Given the description of an element on the screen output the (x, y) to click on. 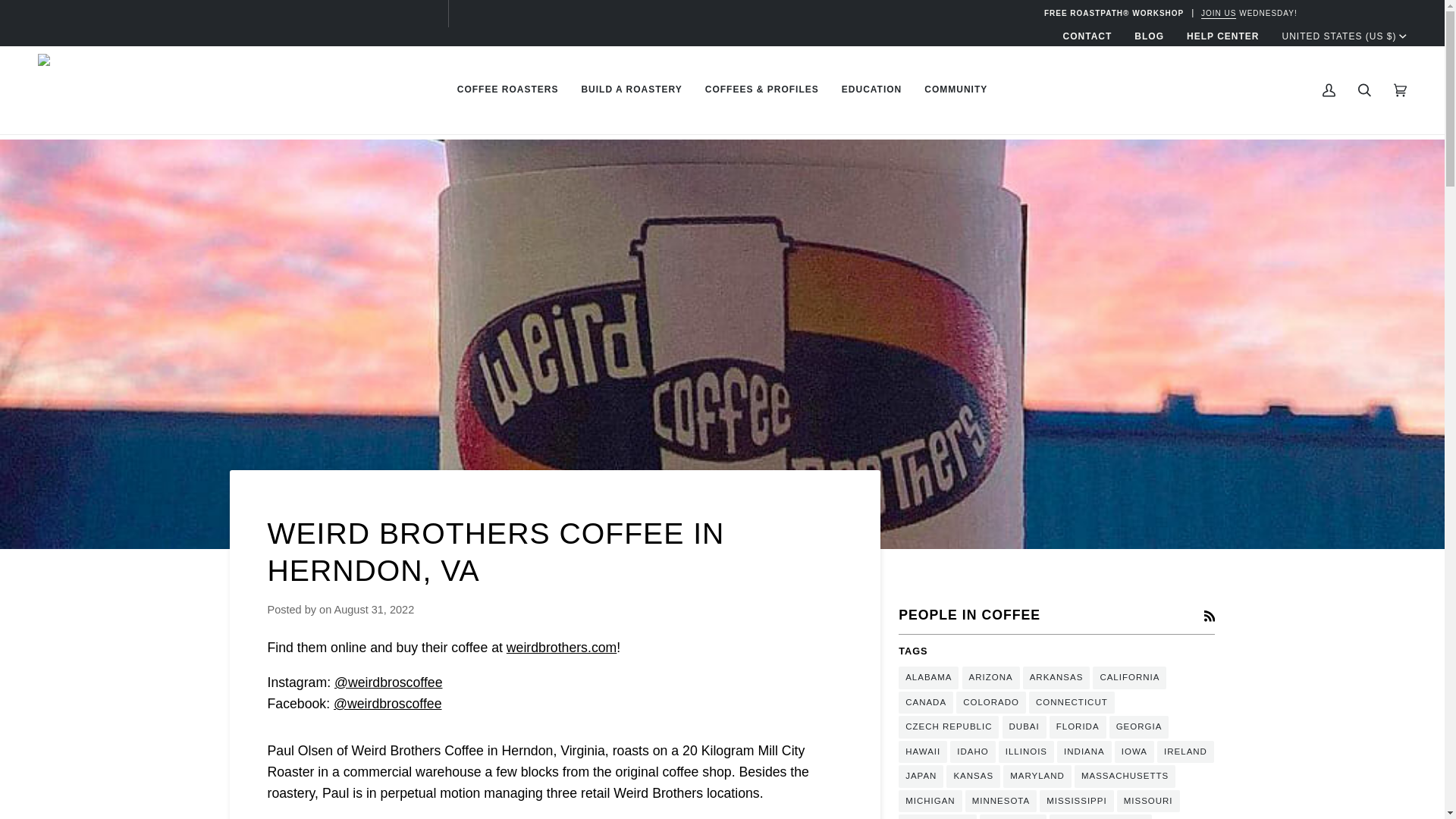
BLOG (1148, 36)
JOIN US (1218, 13)
HELP CENTER (1221, 36)
CONTACT (1087, 36)
